Given the description of an element on the screen output the (x, y) to click on. 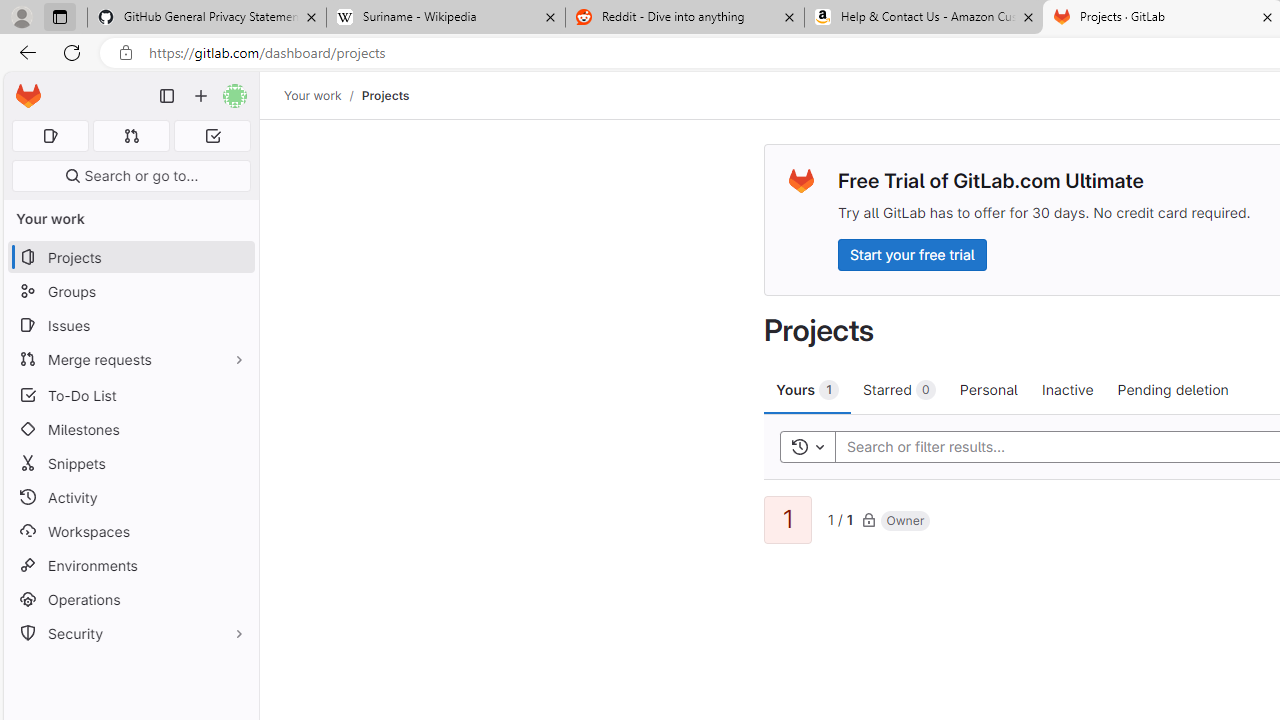
Activity (130, 497)
Personal (988, 389)
To-Do List (130, 394)
Create new... (201, 96)
Starred 0 (899, 389)
To-Do List (130, 394)
Activity (130, 497)
Projects (384, 95)
Security (130, 633)
Inactive (1067, 389)
Toggle history (807, 445)
Start your free trial (912, 254)
